Given the description of an element on the screen output the (x, y) to click on. 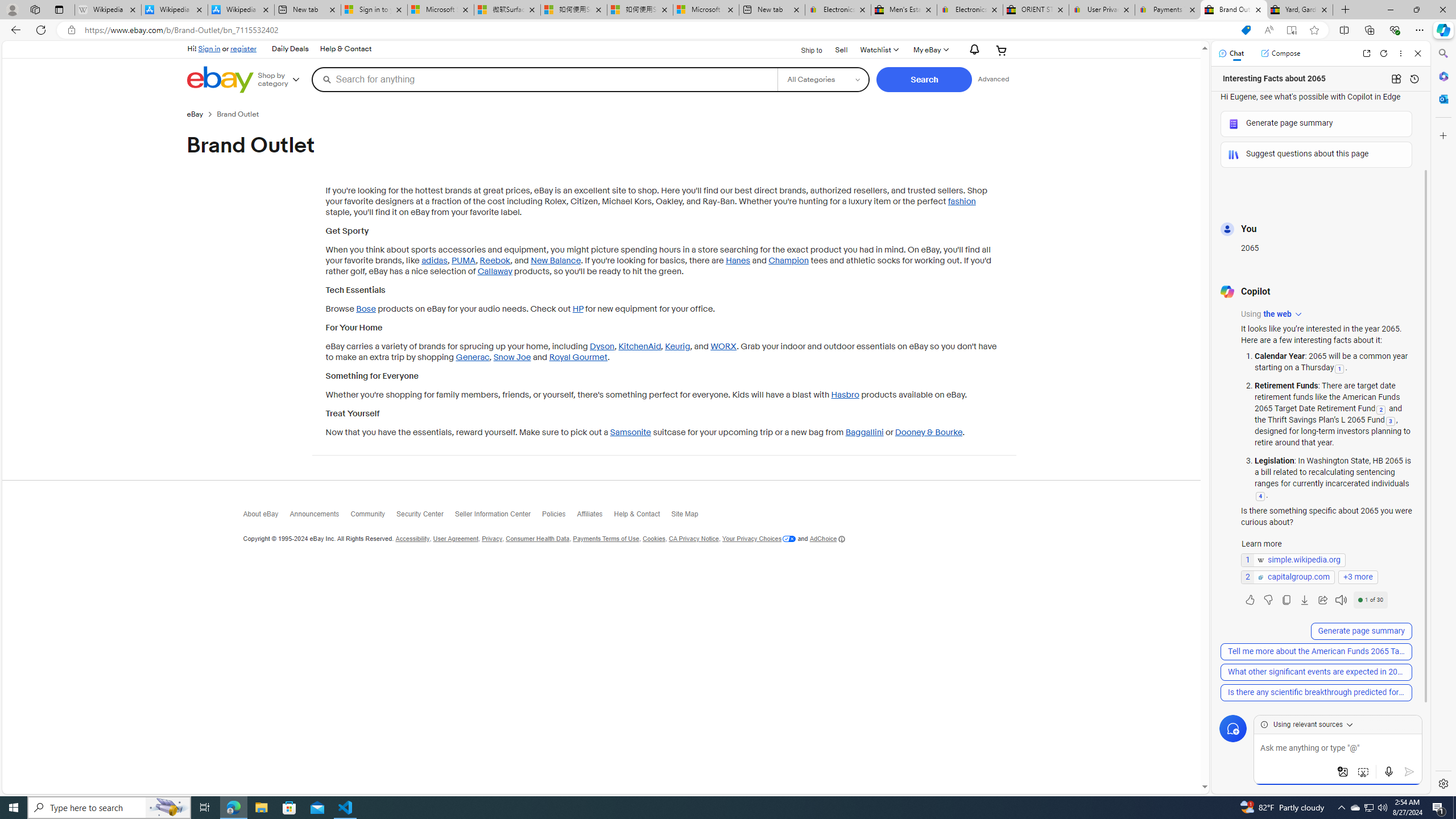
Affiliates (595, 516)
Advanced Search (993, 78)
Consumer Health Data (537, 538)
Community (373, 517)
Callaway (494, 271)
Snow Joe (512, 357)
register (243, 48)
Site Map (690, 517)
Cookies (653, 538)
Samsonite (630, 432)
